Given the description of an element on the screen output the (x, y) to click on. 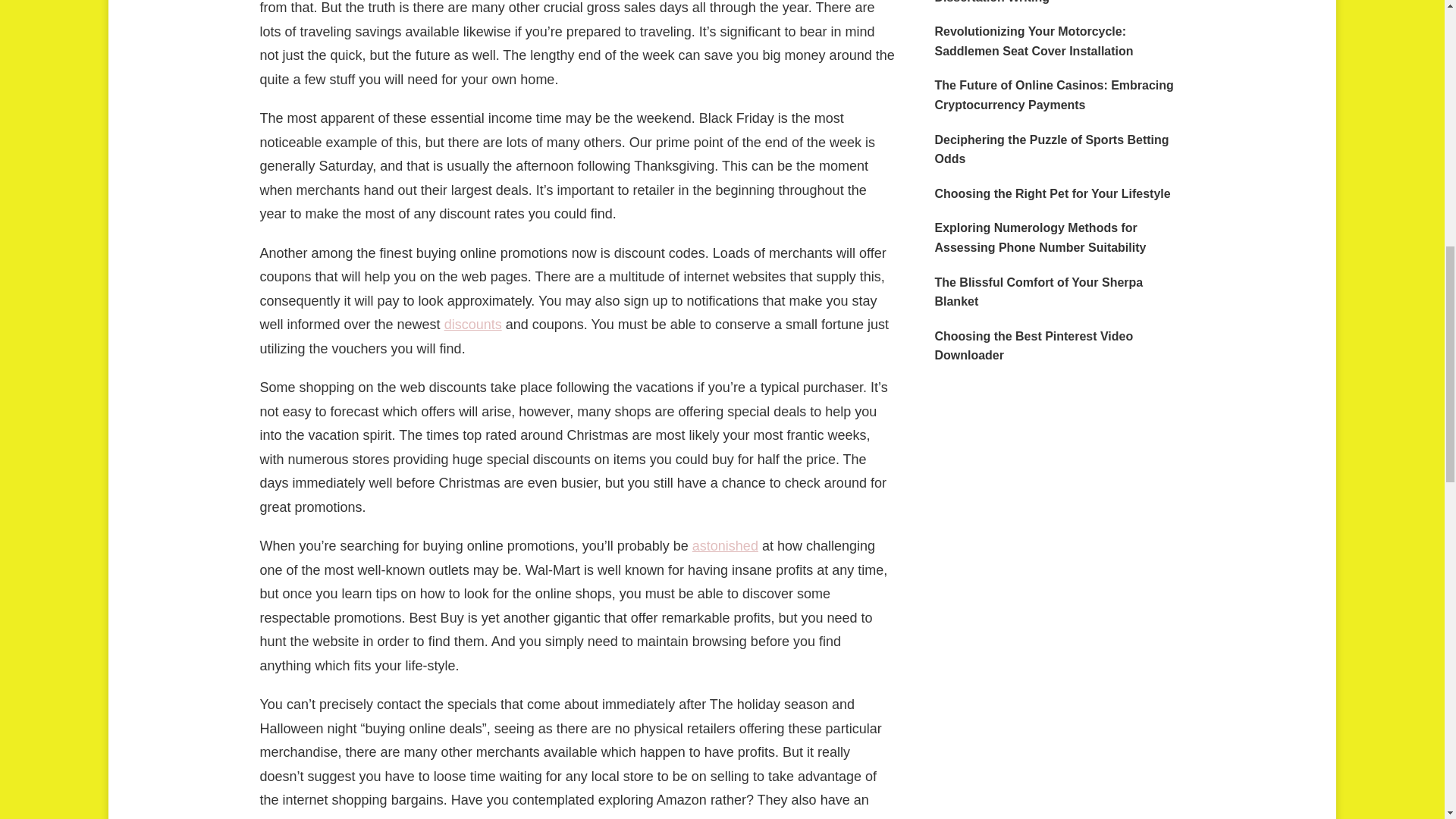
discounts (473, 324)
astonished (725, 545)
